Given the description of an element on the screen output the (x, y) to click on. 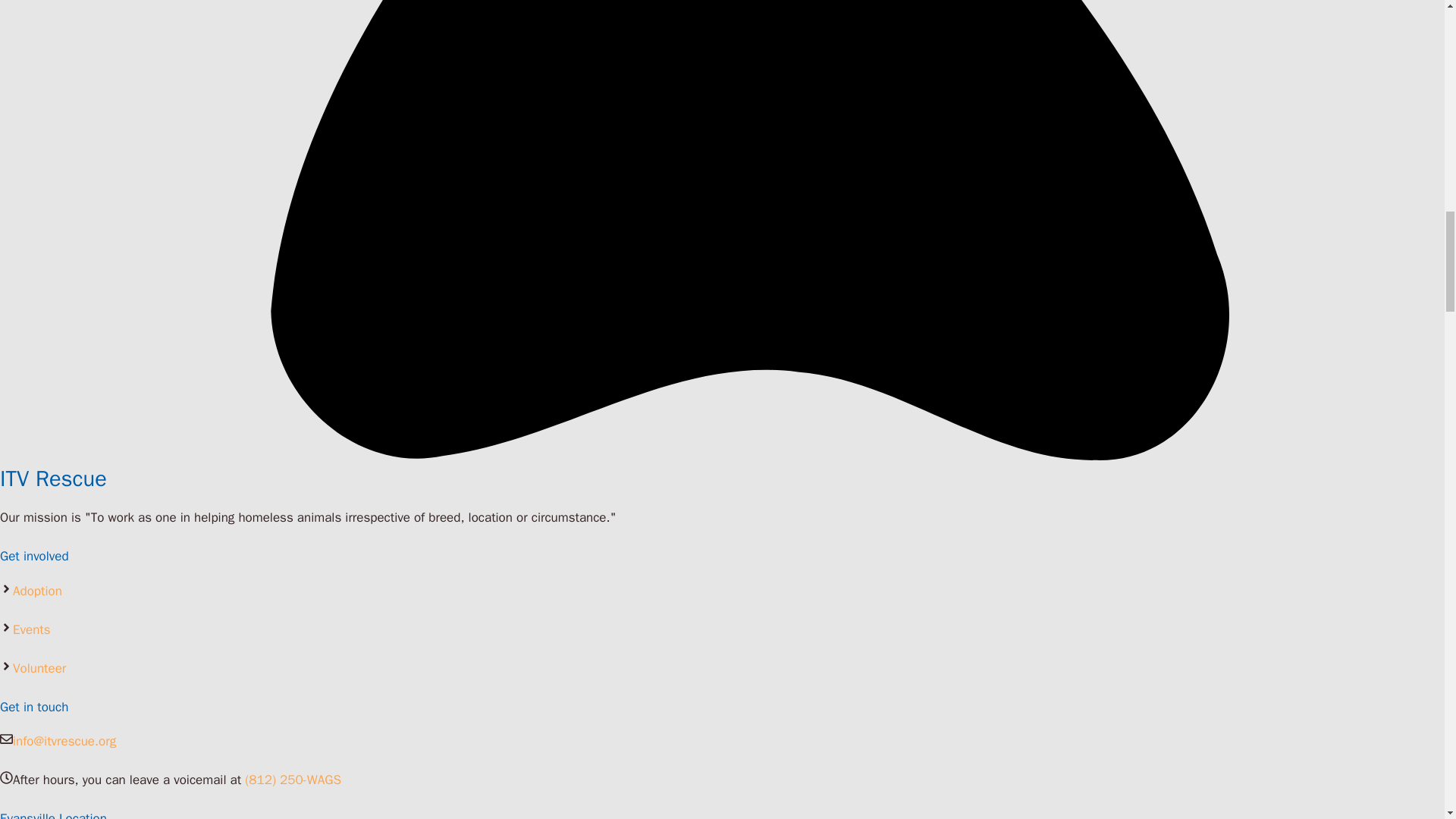
Events (31, 629)
Adoption (37, 590)
Volunteer (39, 668)
